Given the description of an element on the screen output the (x, y) to click on. 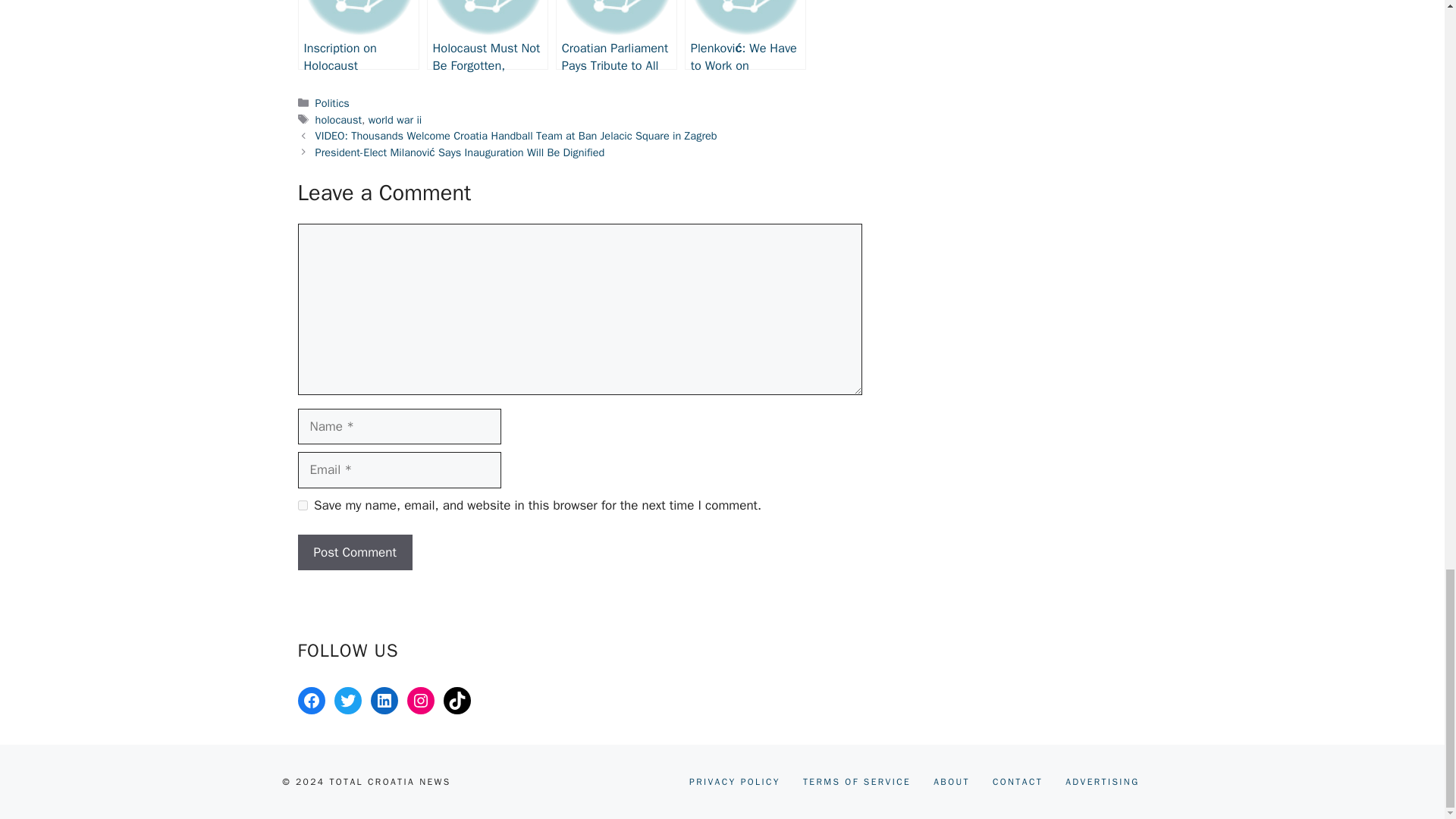
Holocaust Must Not Be Forgotten, Croatian President Says (487, 34)
Post Comment (354, 552)
Inscription on Holocaust Monument in Zagreb Not Defined Yet (358, 34)
yes (302, 505)
Croatian Parliament Pays Tribute to All Holocaust Victims (616, 34)
